Given the description of an element on the screen output the (x, y) to click on. 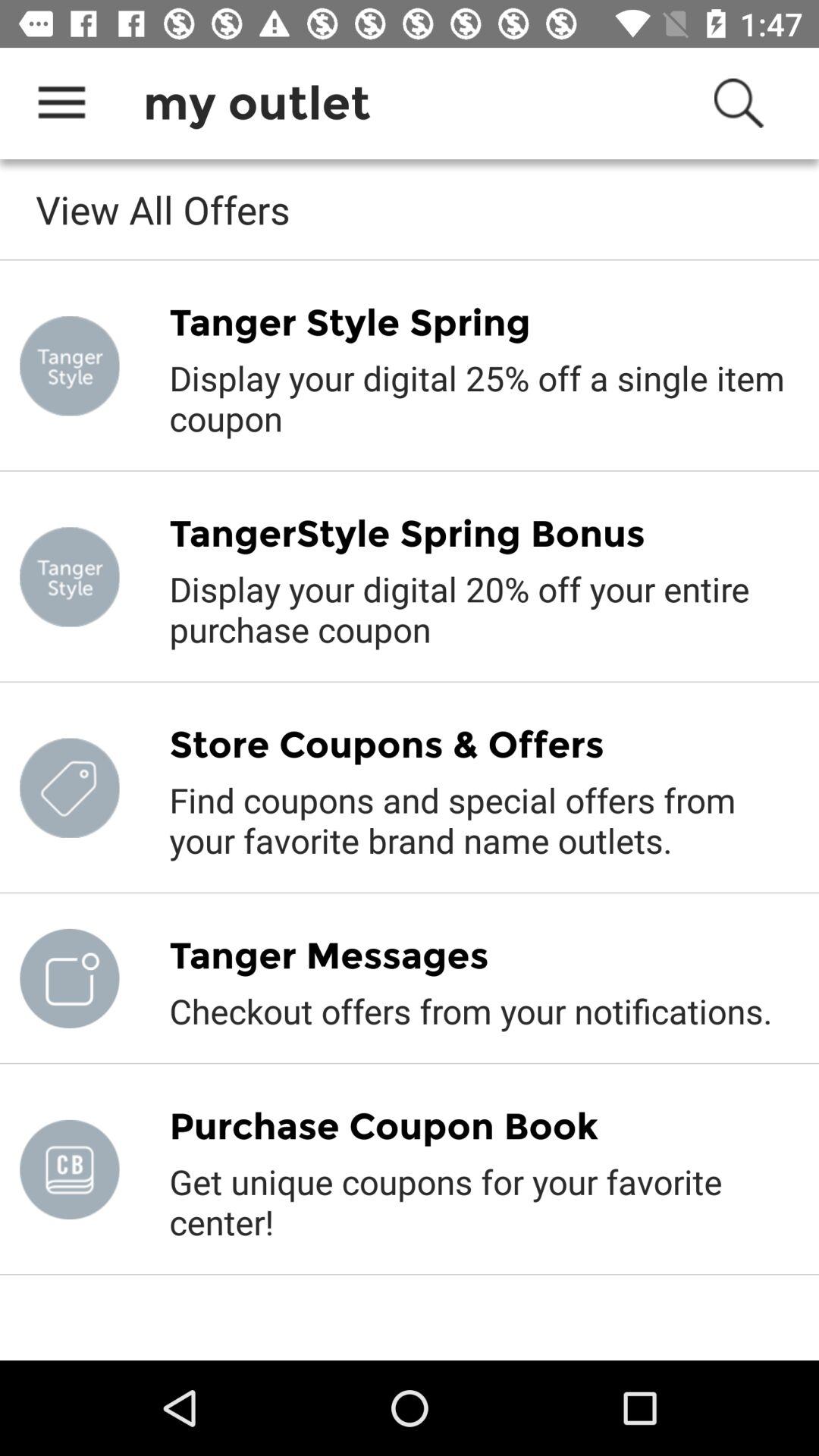
turn on icon above the view all offers item (61, 103)
